Given the description of an element on the screen output the (x, y) to click on. 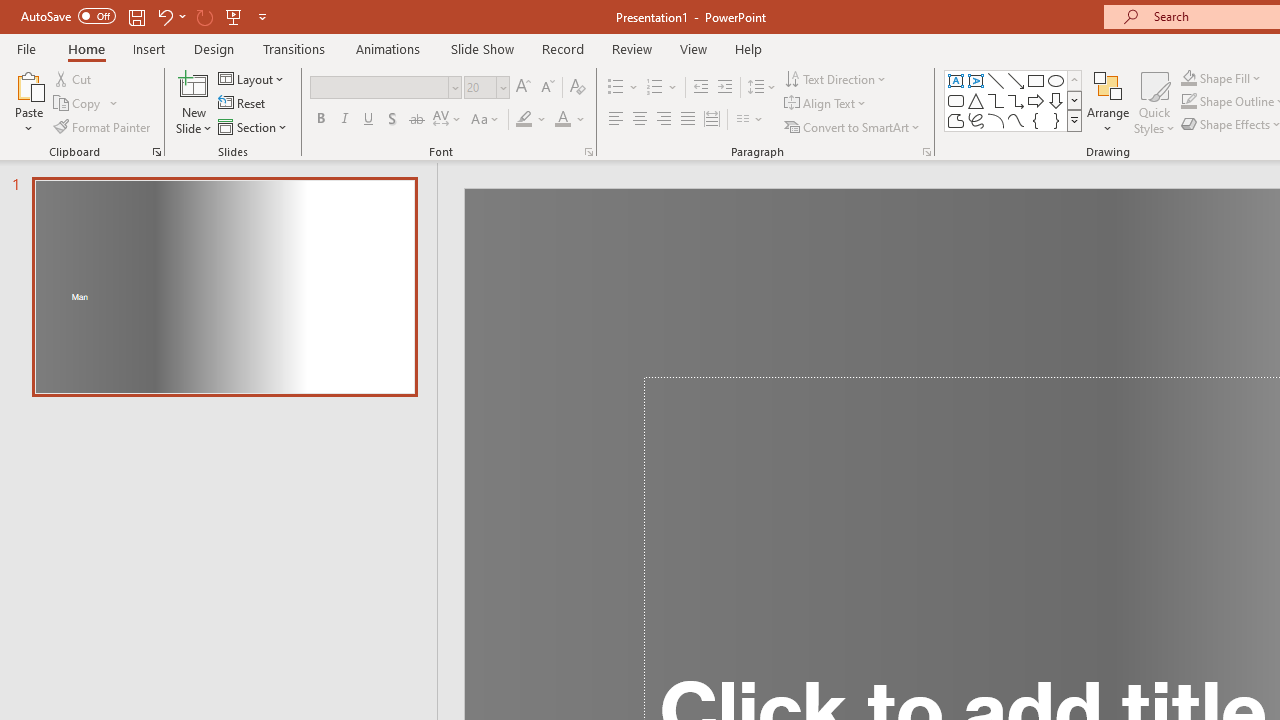
Animations (388, 48)
Font (379, 87)
Format Painter (103, 126)
Copy (85, 103)
From Beginning (234, 15)
System (10, 11)
Quick Access Toolbar (145, 16)
Arrow: Right (1035, 100)
Open (502, 87)
Decrease Indent (700, 87)
